Given the description of an element on the screen output the (x, y) to click on. 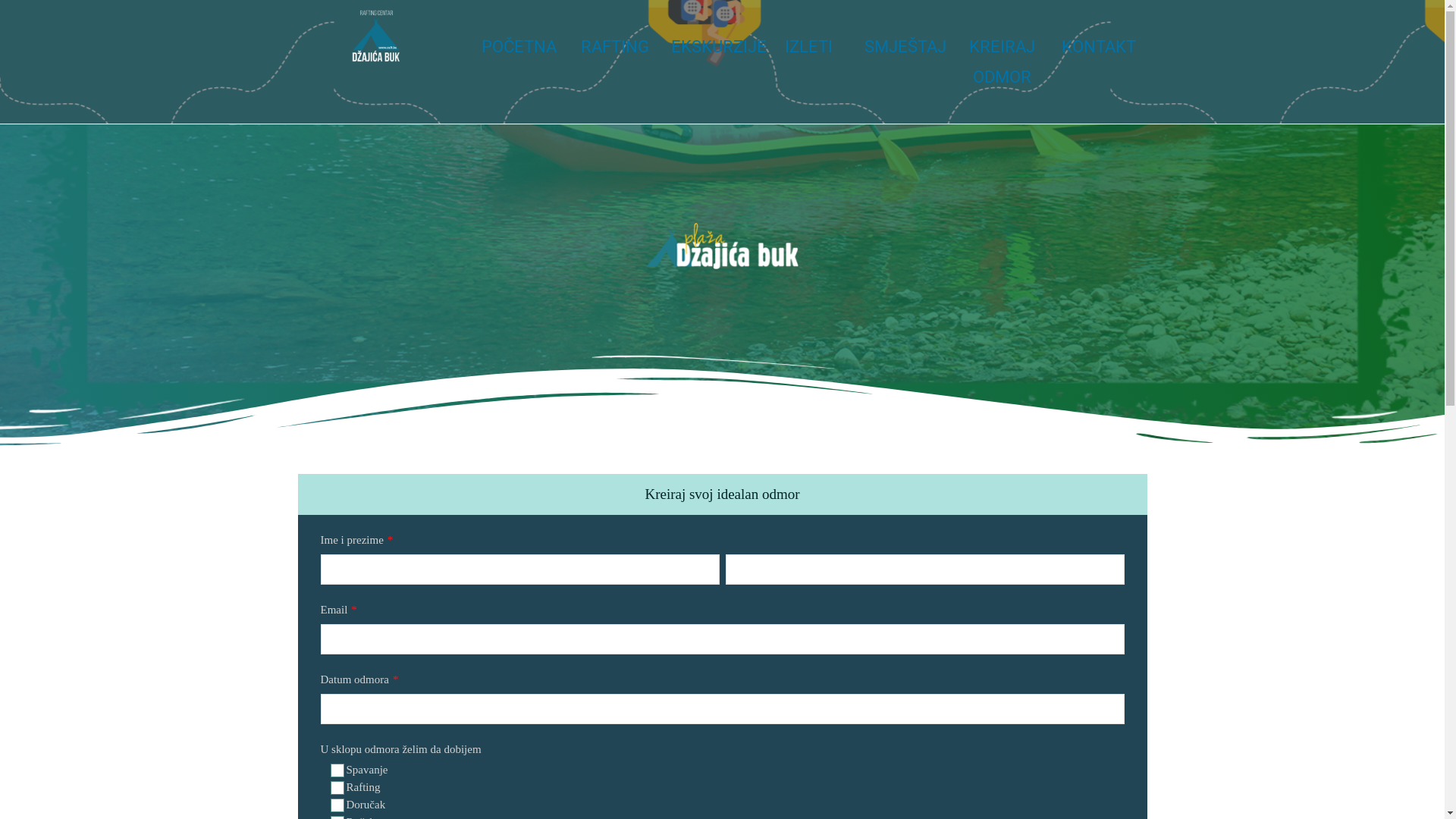
KONTAKT Element type: text (1098, 46)
EKSKURZIJE Element type: text (718, 46)
RAFTING Element type: text (614, 46)
IZLETI Element type: text (808, 46)
KREIRAJ ODMOR Element type: text (1002, 61)
